Given the description of an element on the screen output the (x, y) to click on. 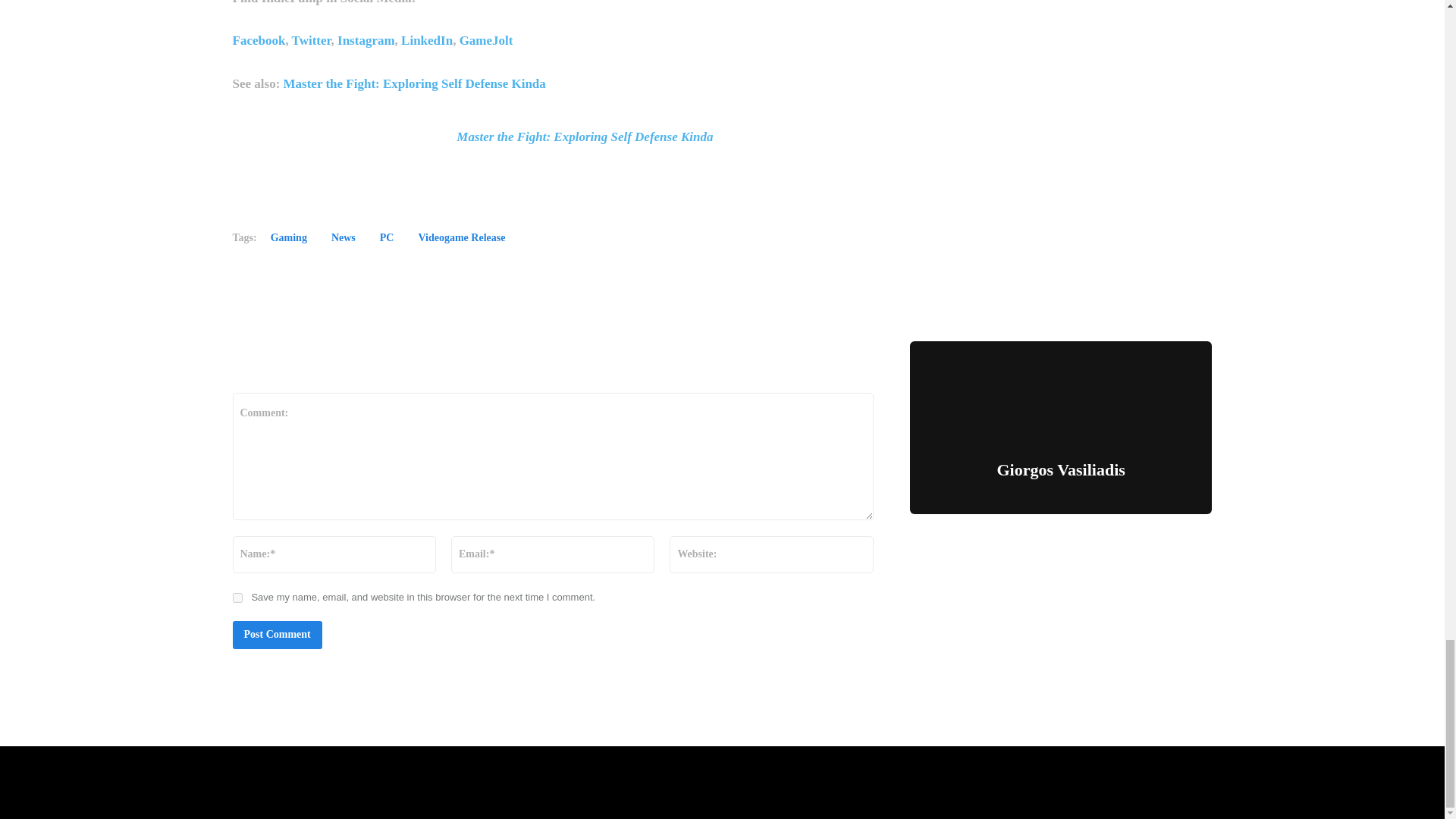
Facebook (258, 40)
Post Comment (276, 634)
yes (236, 597)
Twitter (311, 40)
Instagram (365, 40)
